Given the description of an element on the screen output the (x, y) to click on. 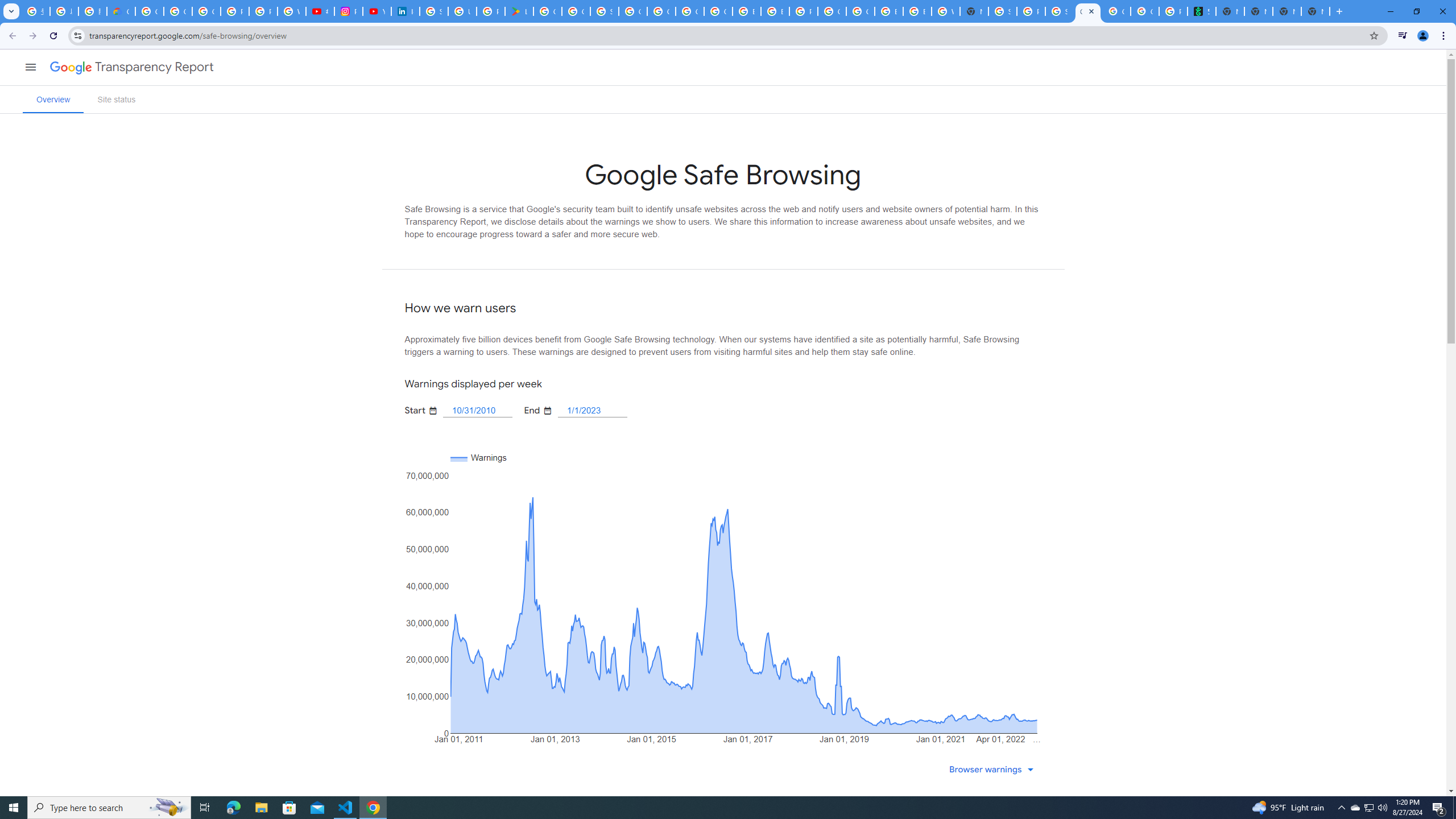
Google Cloud Platform (860, 11)
A chart. (723, 594)
Sign in - Google Accounts (604, 11)
Browse Chrome as a guest - Computer - Google Chrome Help (746, 11)
Sign in - Google Accounts (1002, 11)
Last Shelter: Survival - Apps on Google Play (518, 11)
